Given the description of an element on the screen output the (x, y) to click on. 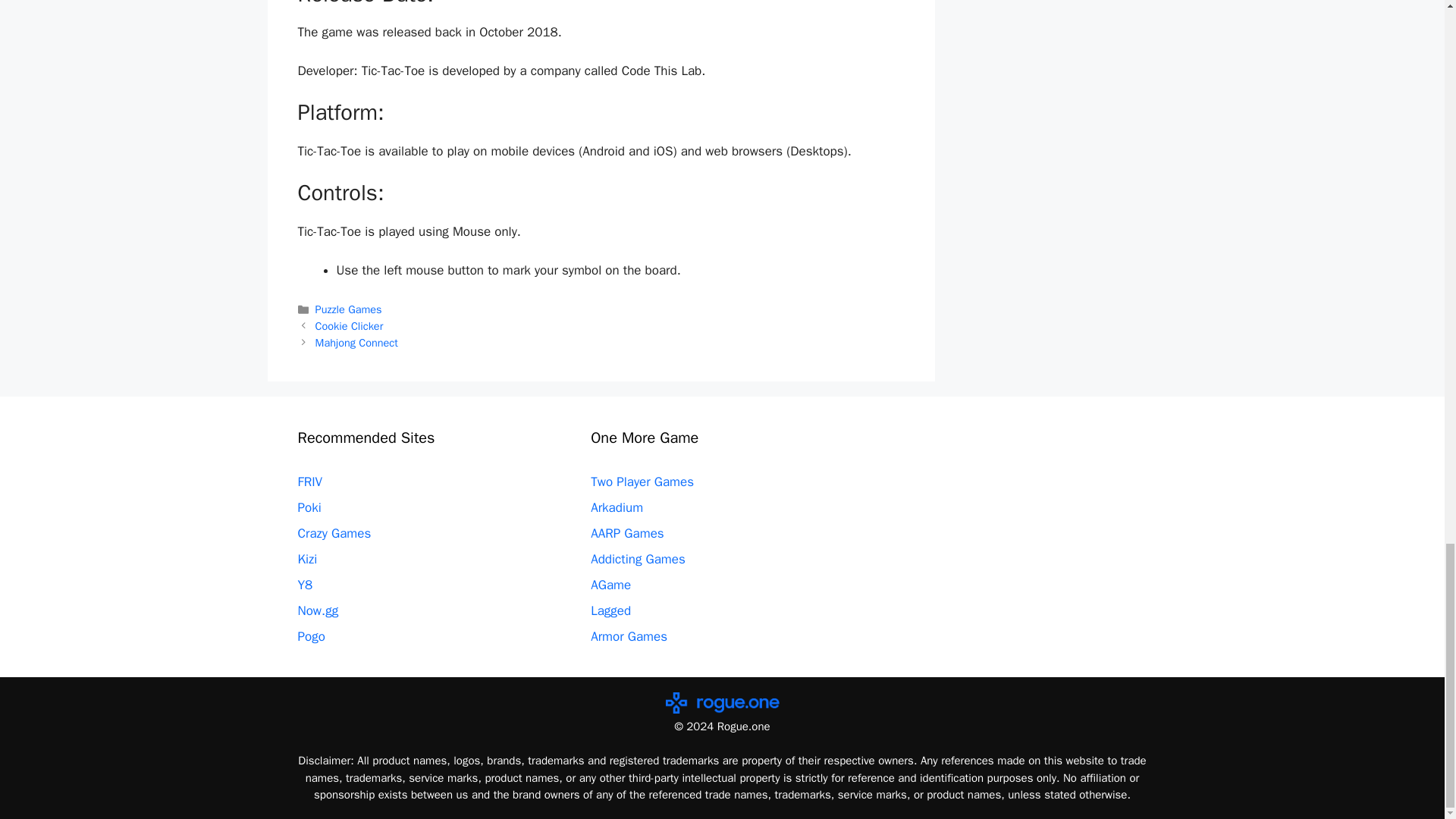
Arkadium (617, 507)
Next (356, 342)
FRIV (309, 481)
Previous (349, 325)
Crazy Games (334, 533)
Poki (308, 507)
Kizi (307, 559)
Mahjong Connect (356, 342)
Addicting Games (638, 559)
AARP Games (627, 533)
Puzzle Games (348, 309)
Pogo (310, 636)
Now.gg (317, 610)
Lagged (610, 610)
AGame (610, 584)
